Given the description of an element on the screen output the (x, y) to click on. 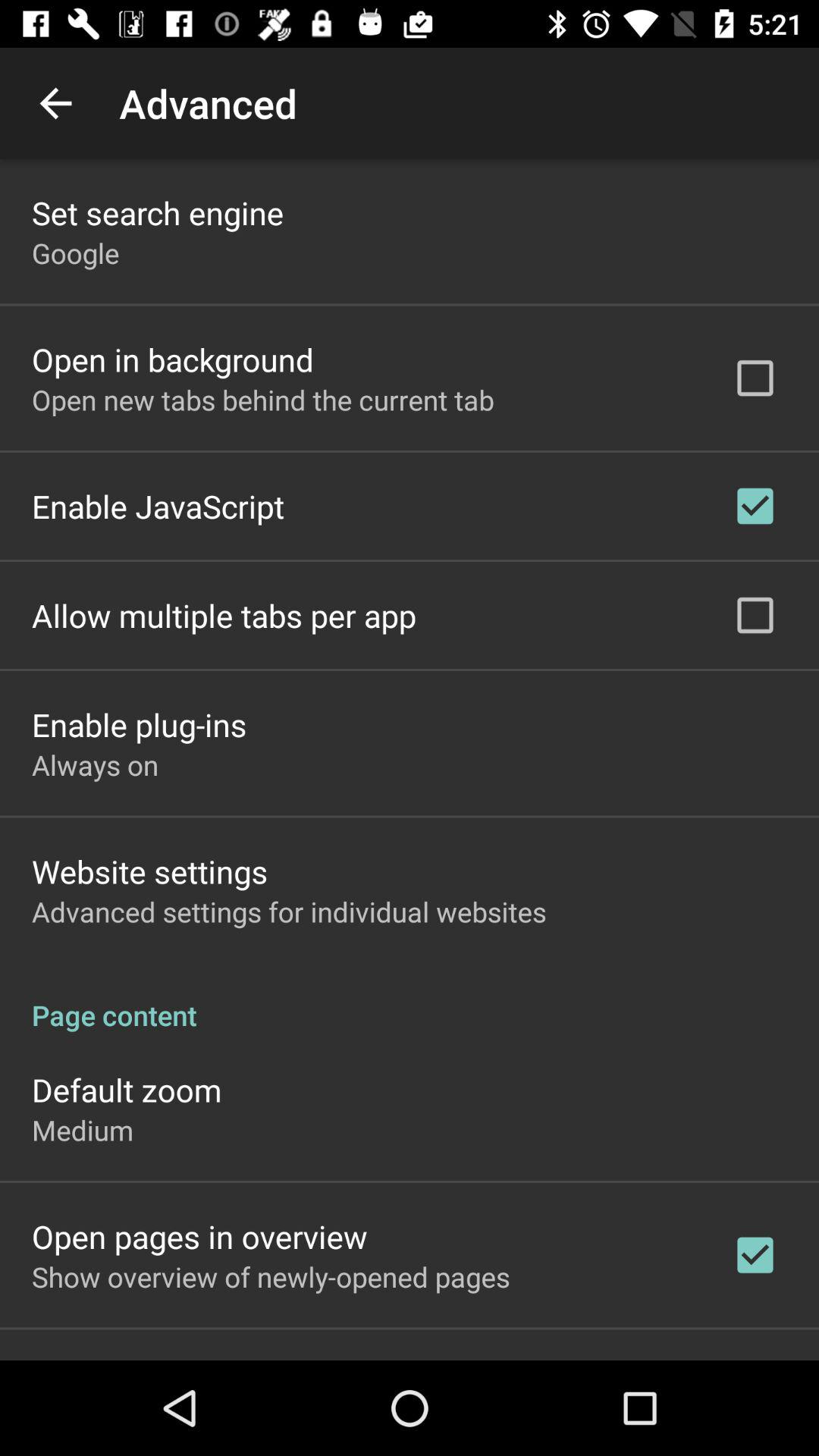
flip to enable javascript item (157, 505)
